Given the description of an element on the screen output the (x, y) to click on. 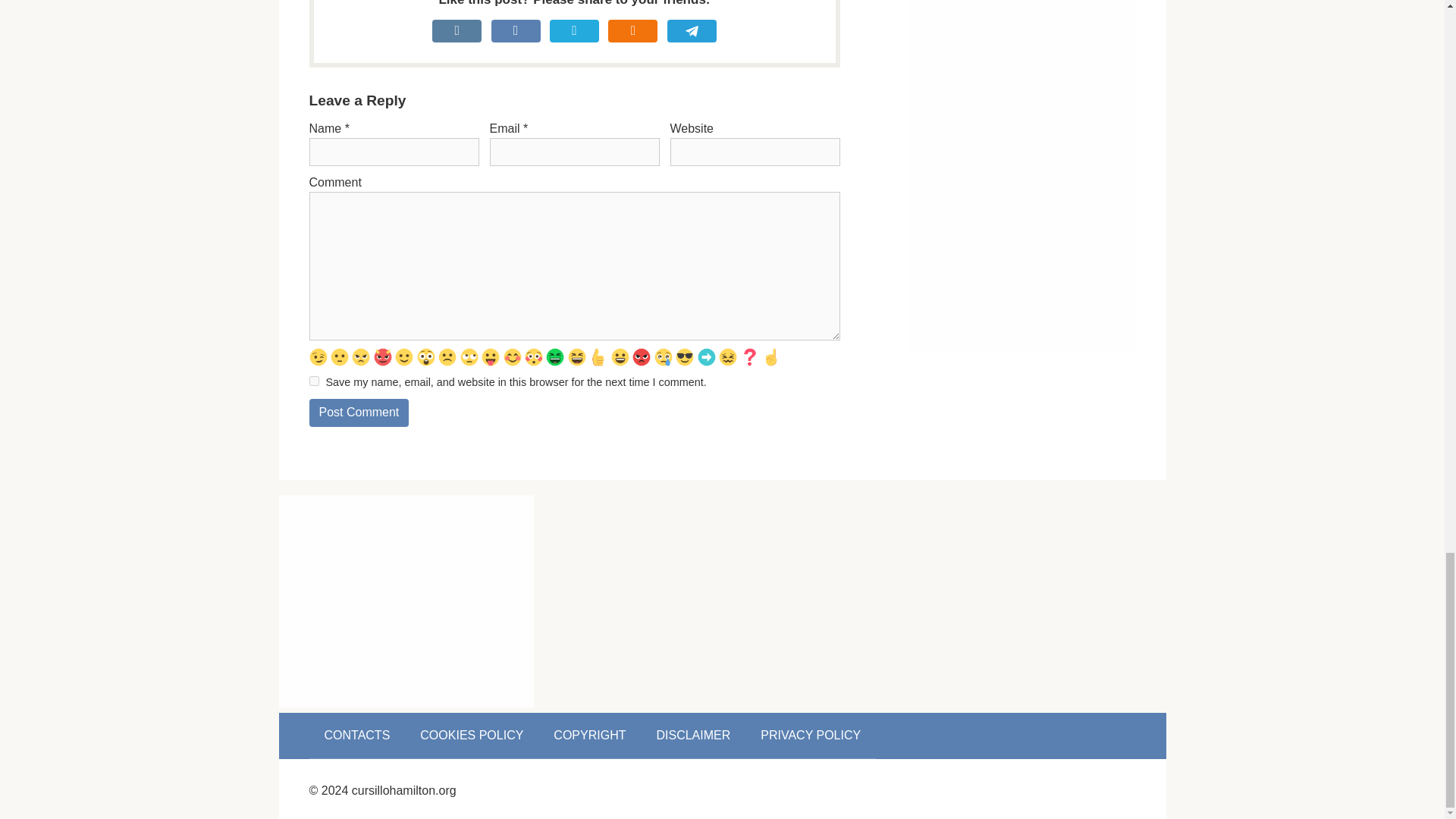
yes (313, 380)
Post Comment (358, 412)
Post Comment (358, 412)
CONTACTS (357, 735)
